Given the description of an element on the screen output the (x, y) to click on. 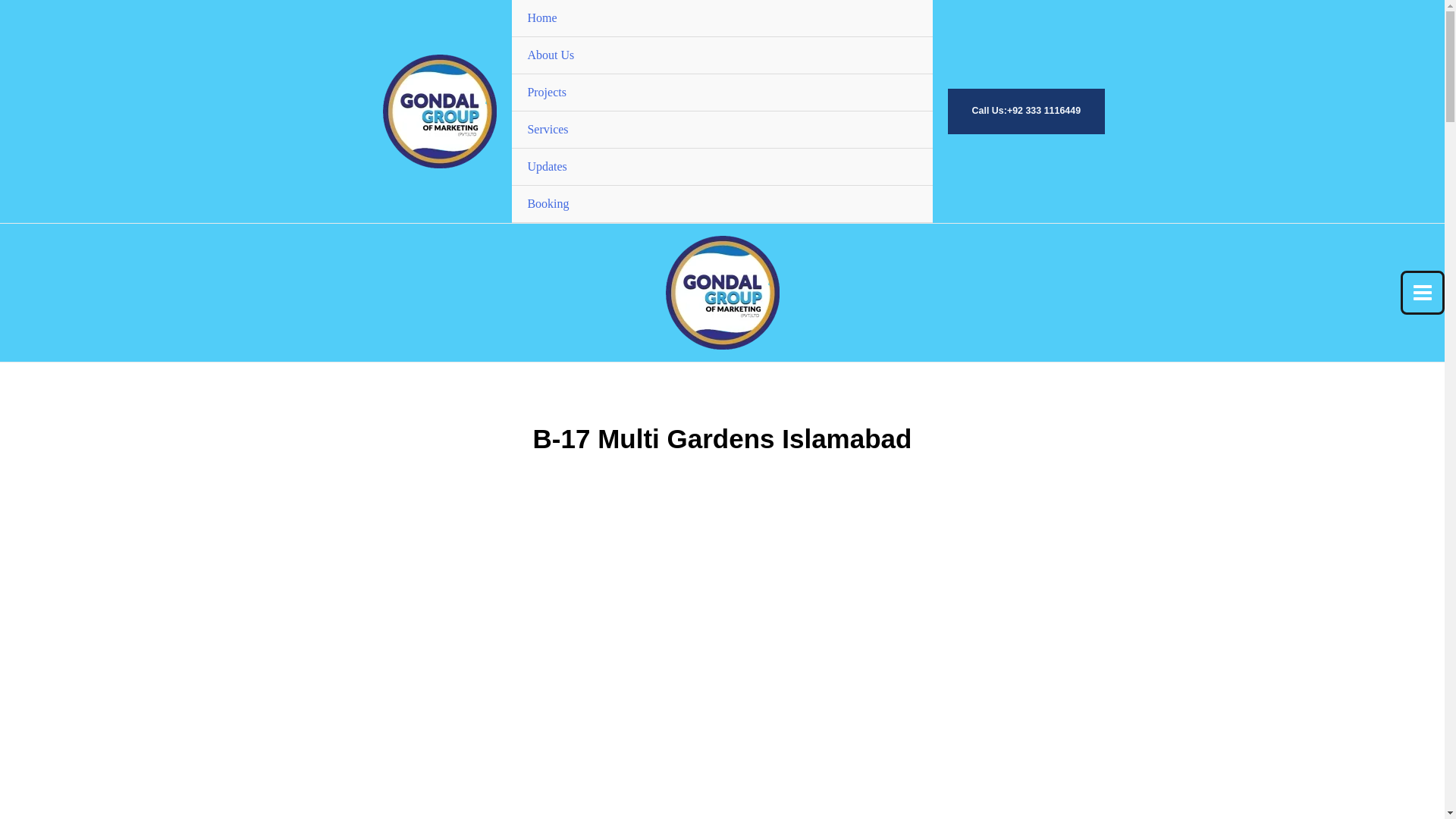
Projects (721, 92)
Menu Toggle (905, 37)
About Us (721, 55)
Menu Toggle (905, 75)
Home (721, 18)
